Given the description of an element on the screen output the (x, y) to click on. 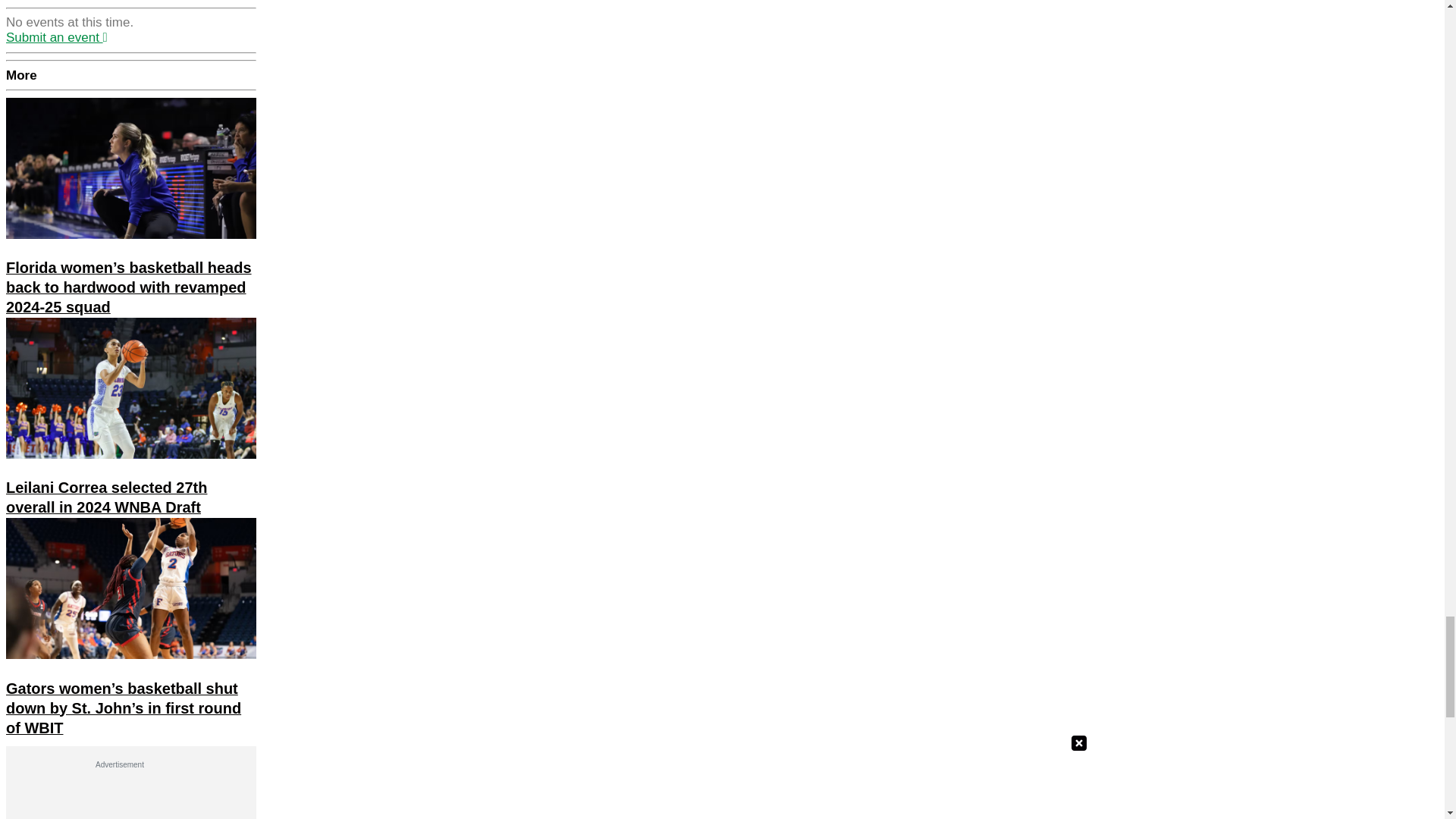
Leilani Correa selected 27th overall in 2024 WNBA Draft (105, 497)
Leilani Correa selected 27th overall in 2024 WNBA Draft (130, 387)
